Given the description of an element on the screen output the (x, y) to click on. 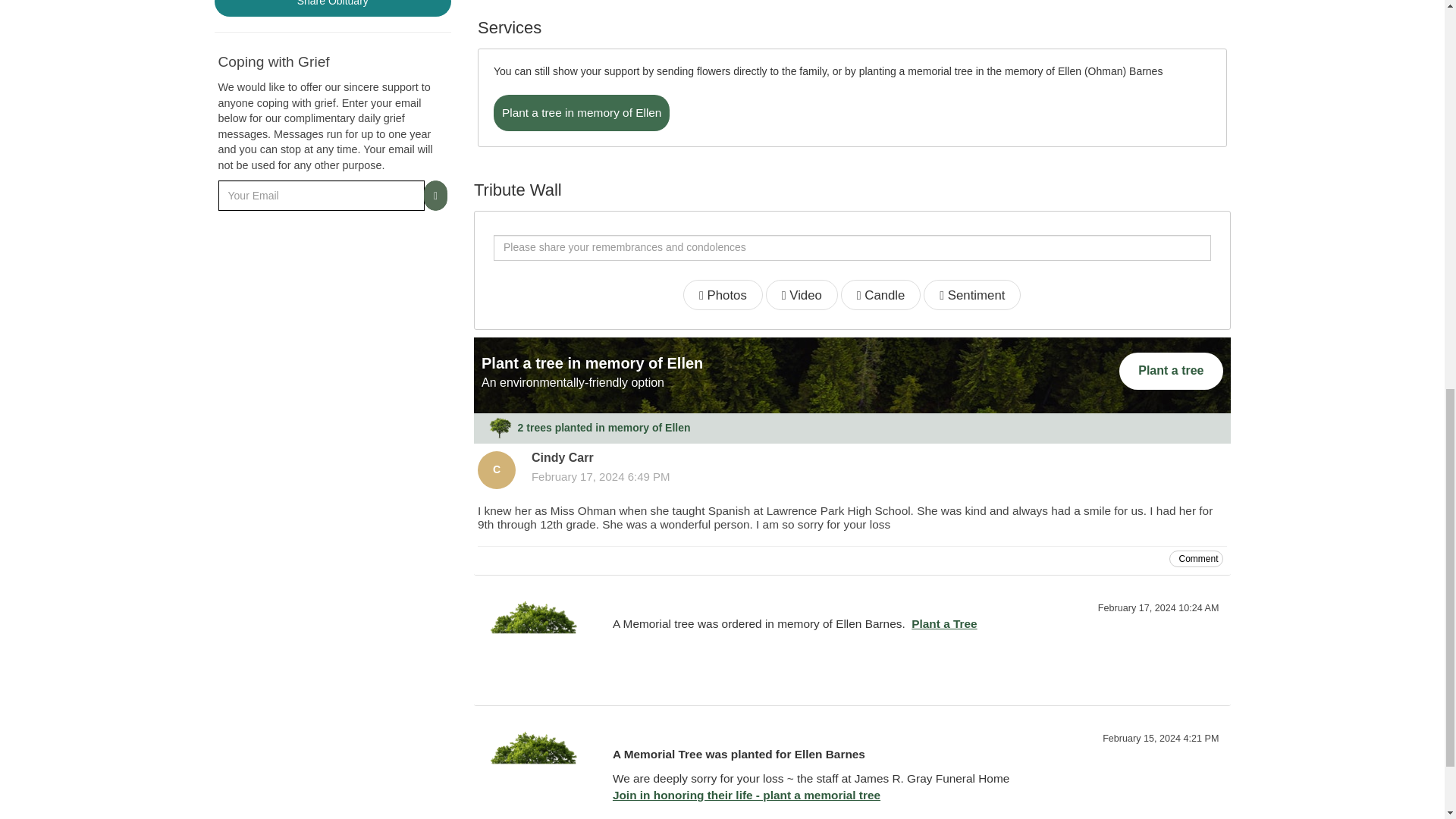
Plant a Tree (943, 623)
Plant a tree (1171, 370)
Share Obituary (332, 8)
Plant a tree in memory of Ellen (581, 113)
Join in honoring their life - plant a memorial tree (746, 794)
Cindy Carr (496, 469)
  Comment (1196, 558)
Plant a tree (1171, 370)
